Given the description of an element on the screen output the (x, y) to click on. 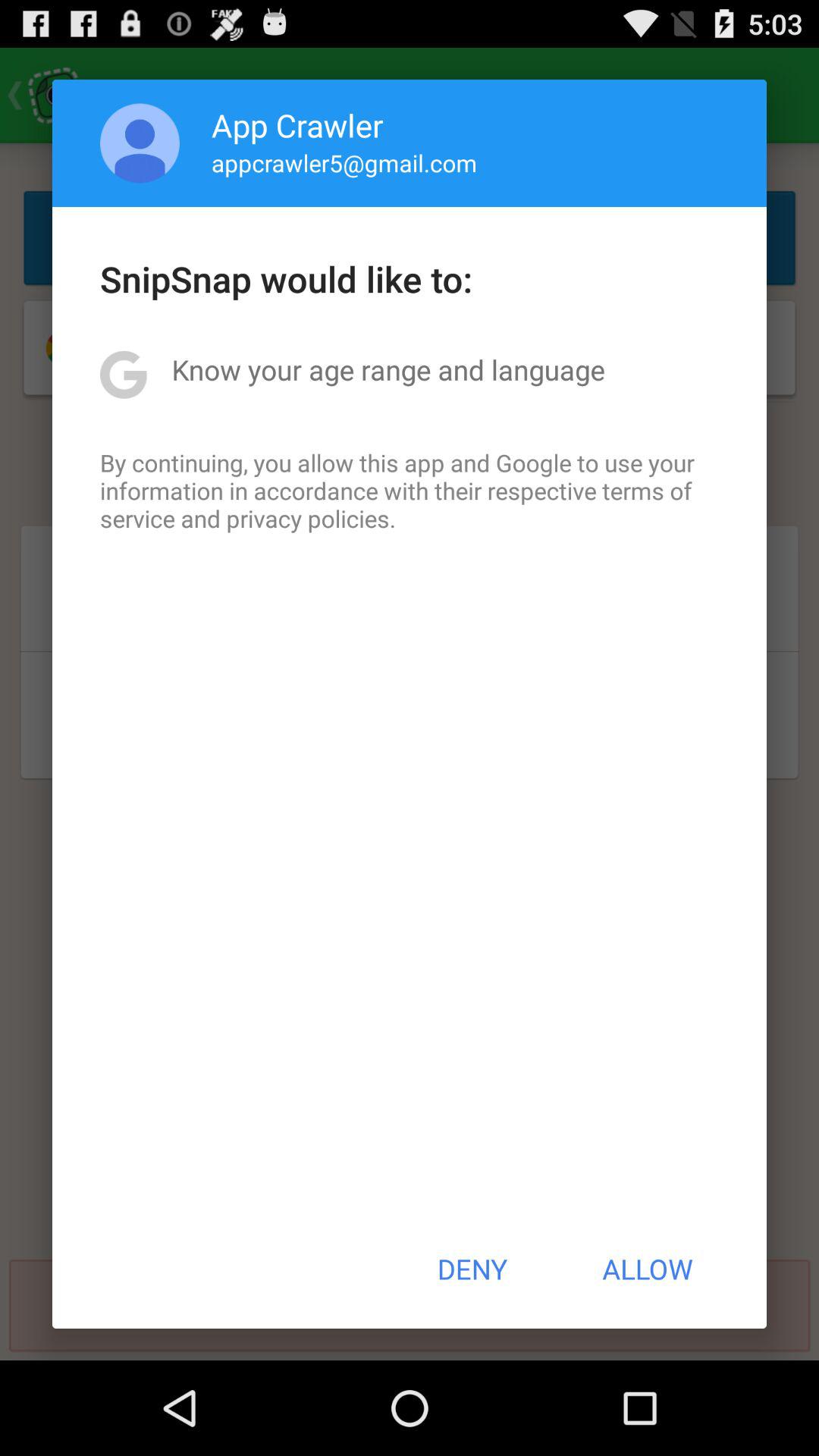
turn on the app below the app crawler (344, 162)
